Given the description of an element on the screen output the (x, y) to click on. 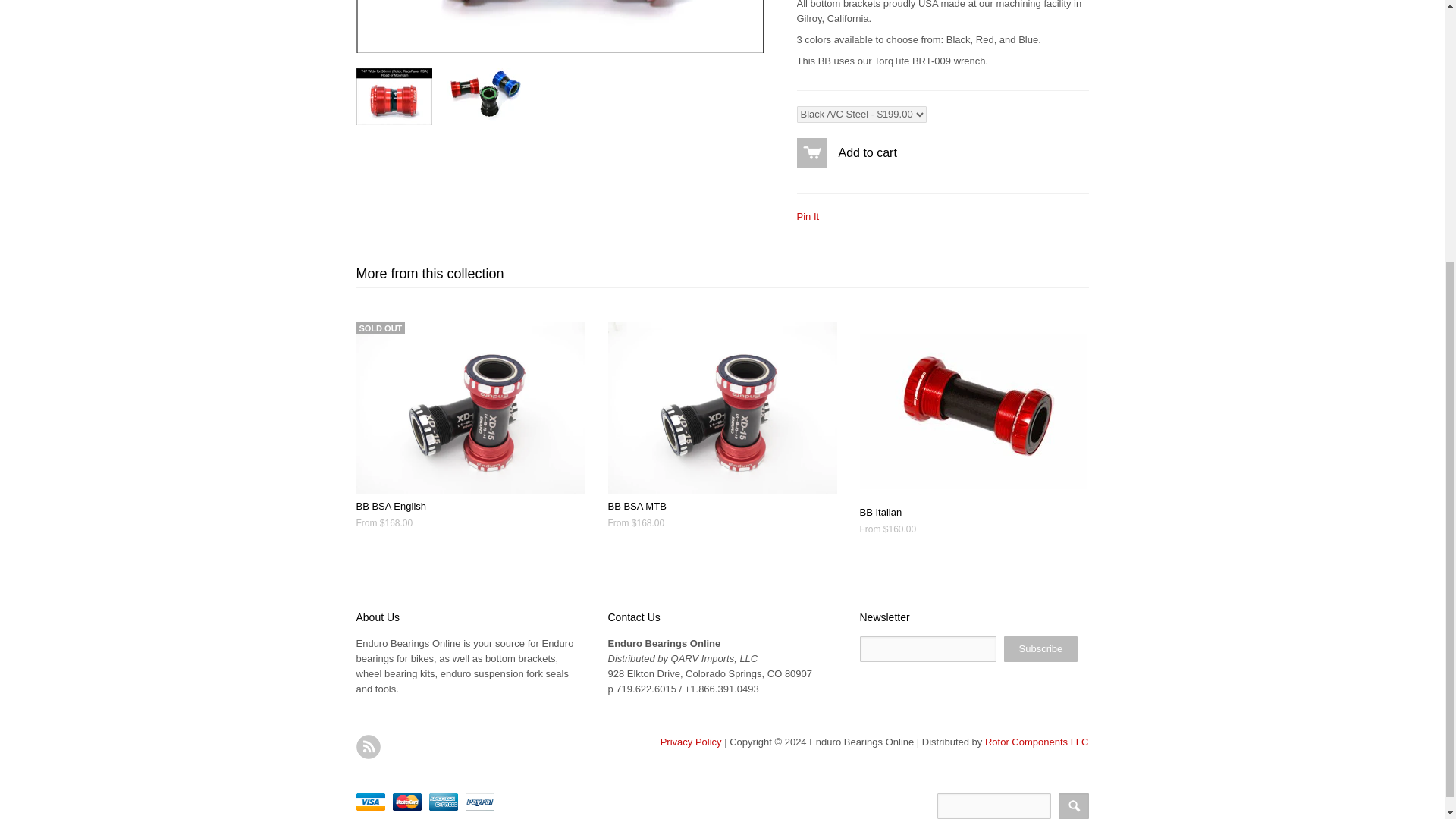
Privacy Policy (691, 741)
Enduro Bearings Online news (368, 746)
Blog feed (368, 746)
Subscribe (1041, 648)
Subscribe (1041, 648)
Pin It (807, 215)
